Given the description of an element on the screen output the (x, y) to click on. 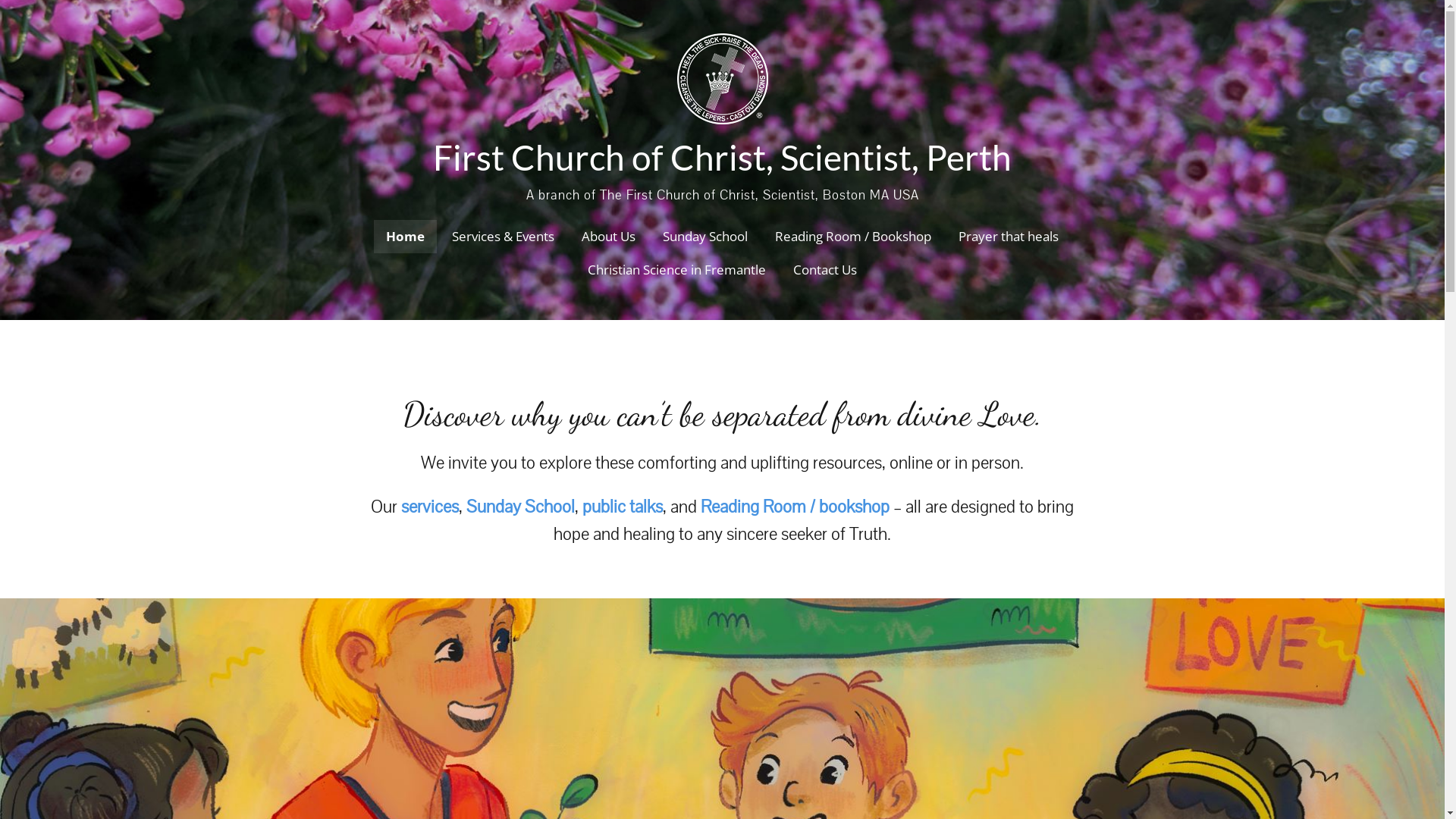
Prayer that heals Element type: text (1008, 236)
Home Element type: text (404, 236)
Sunday School Element type: text (520, 506)
Reading Room / bookshop Element type: text (794, 506)
public talks Element type: text (622, 506)
Reading Room / Bookshop Element type: text (852, 236)
Contact Us Element type: text (825, 269)
About Us Element type: text (608, 236)
First Church of Christ, Scientist, Perth Element type: text (722, 157)
Services & Events Element type: text (502, 236)
Sunday School Element type: text (704, 236)
Christian Science in Fremantle Element type: text (676, 269)
services Element type: text (429, 506)
